Given the description of an element on the screen output the (x, y) to click on. 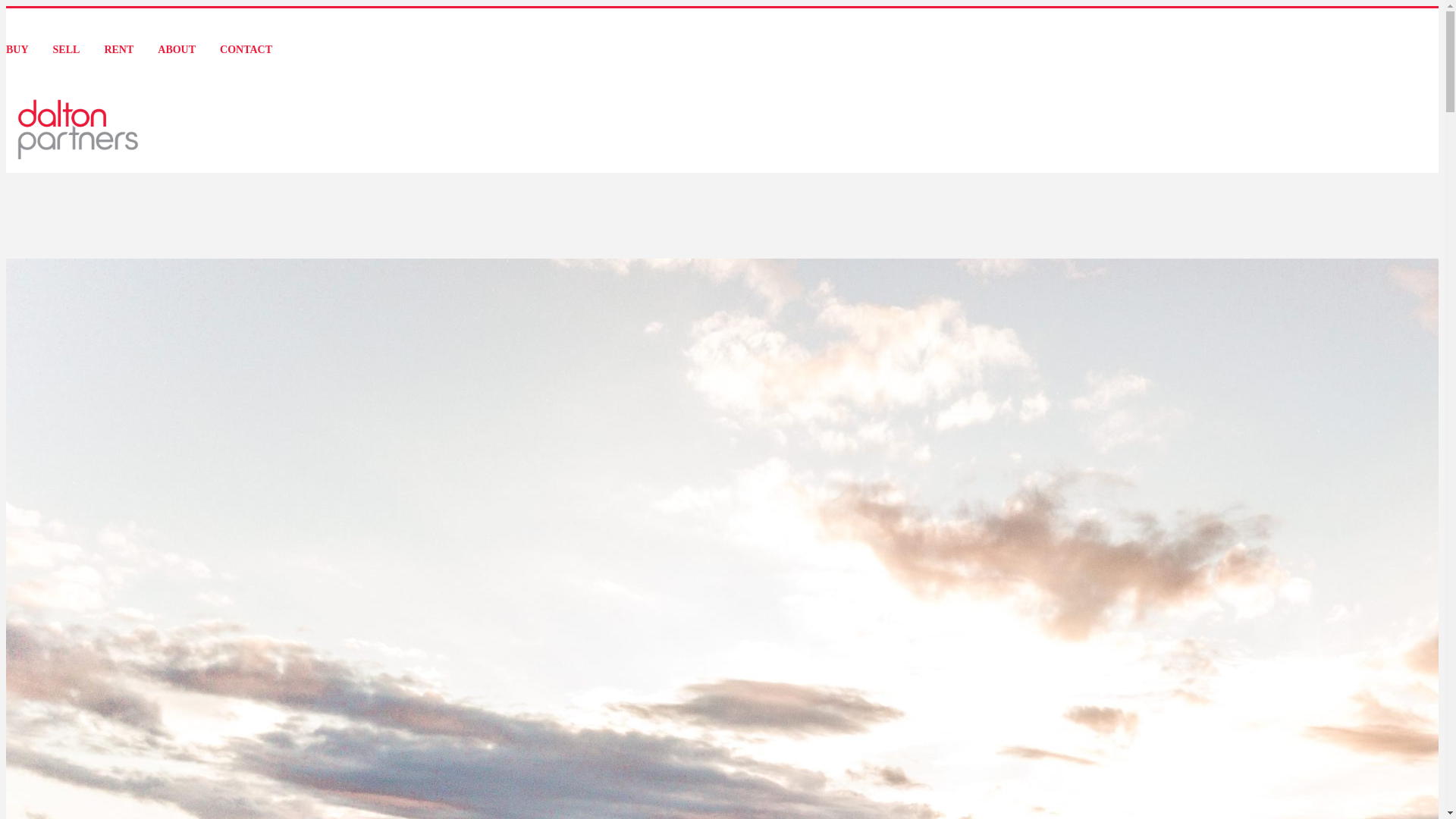
CONTACT Element type: text (245, 49)
RENT Element type: text (118, 49)
SELL Element type: text (66, 49)
ABOUT Element type: text (176, 49)
BUY Element type: text (17, 49)
